Given the description of an element on the screen output the (x, y) to click on. 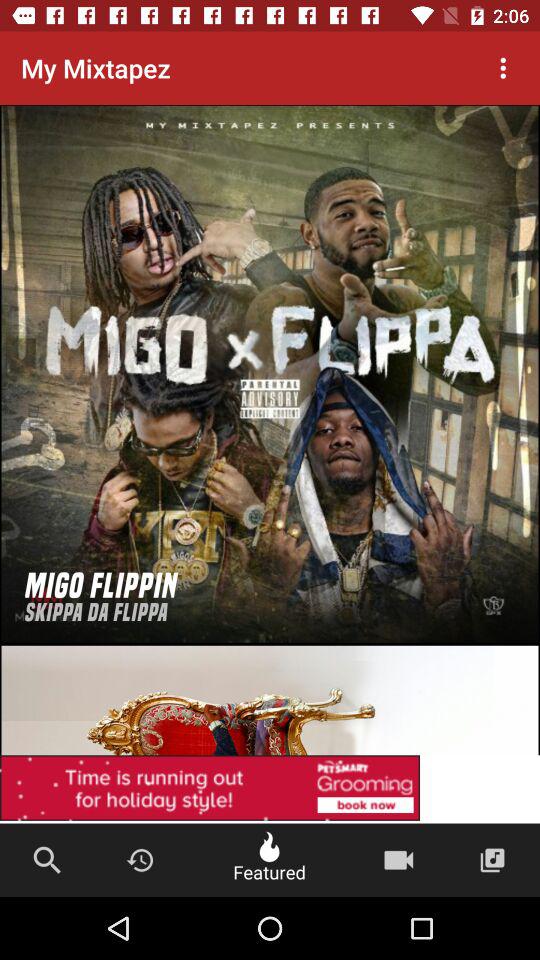
hit to see album details (269, 374)
